Given the description of an element on the screen output the (x, y) to click on. 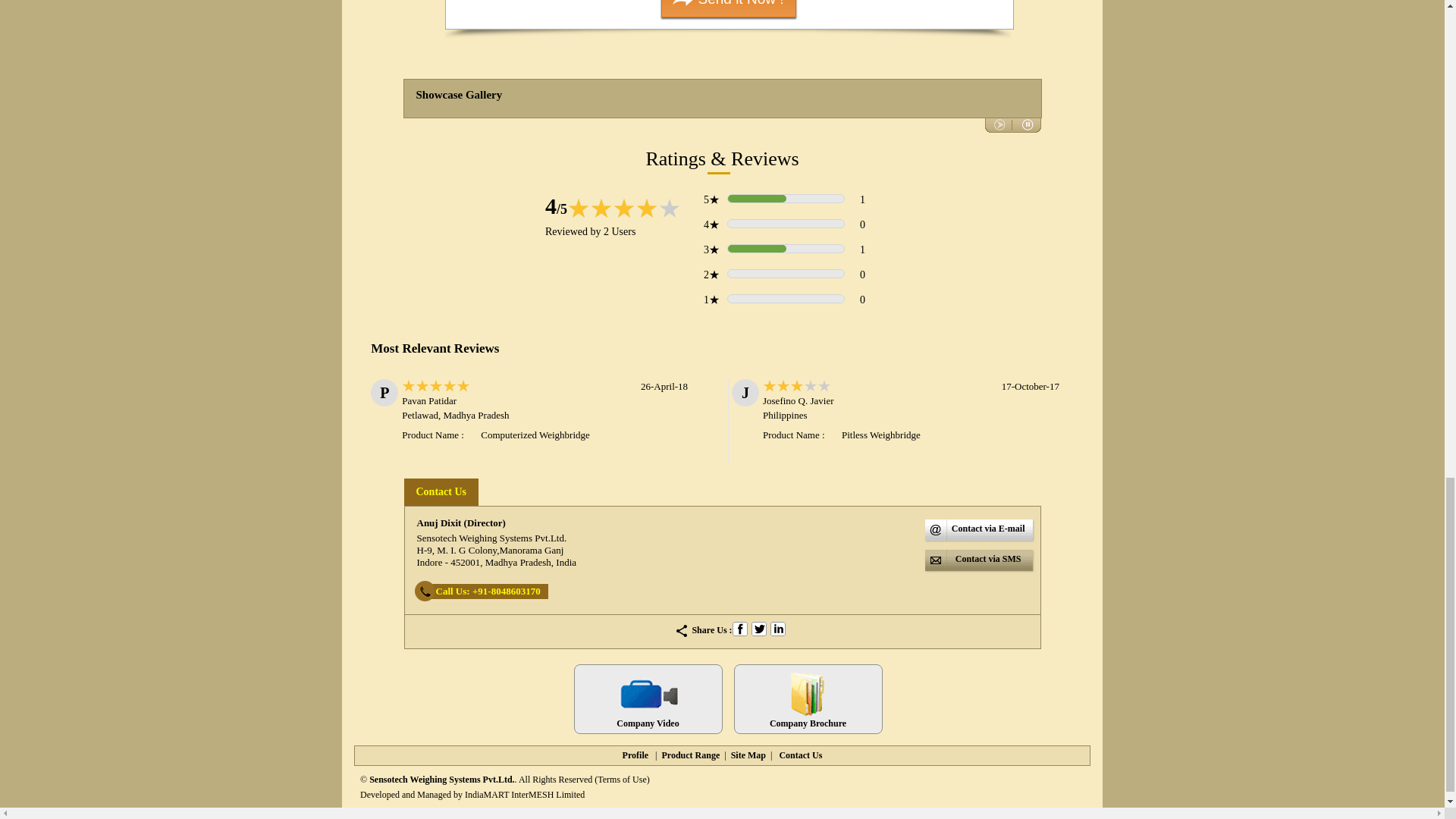
Company Brochure (807, 698)
Site Map (747, 755)
T (759, 628)
Product Range (690, 755)
Send it Now ! (728, 8)
Company Video (647, 698)
IndiaMART InterMESH Limited (524, 794)
Contact Us (800, 755)
Contact Us (439, 491)
Send it Now ! (728, 8)
